Given the description of an element on the screen output the (x, y) to click on. 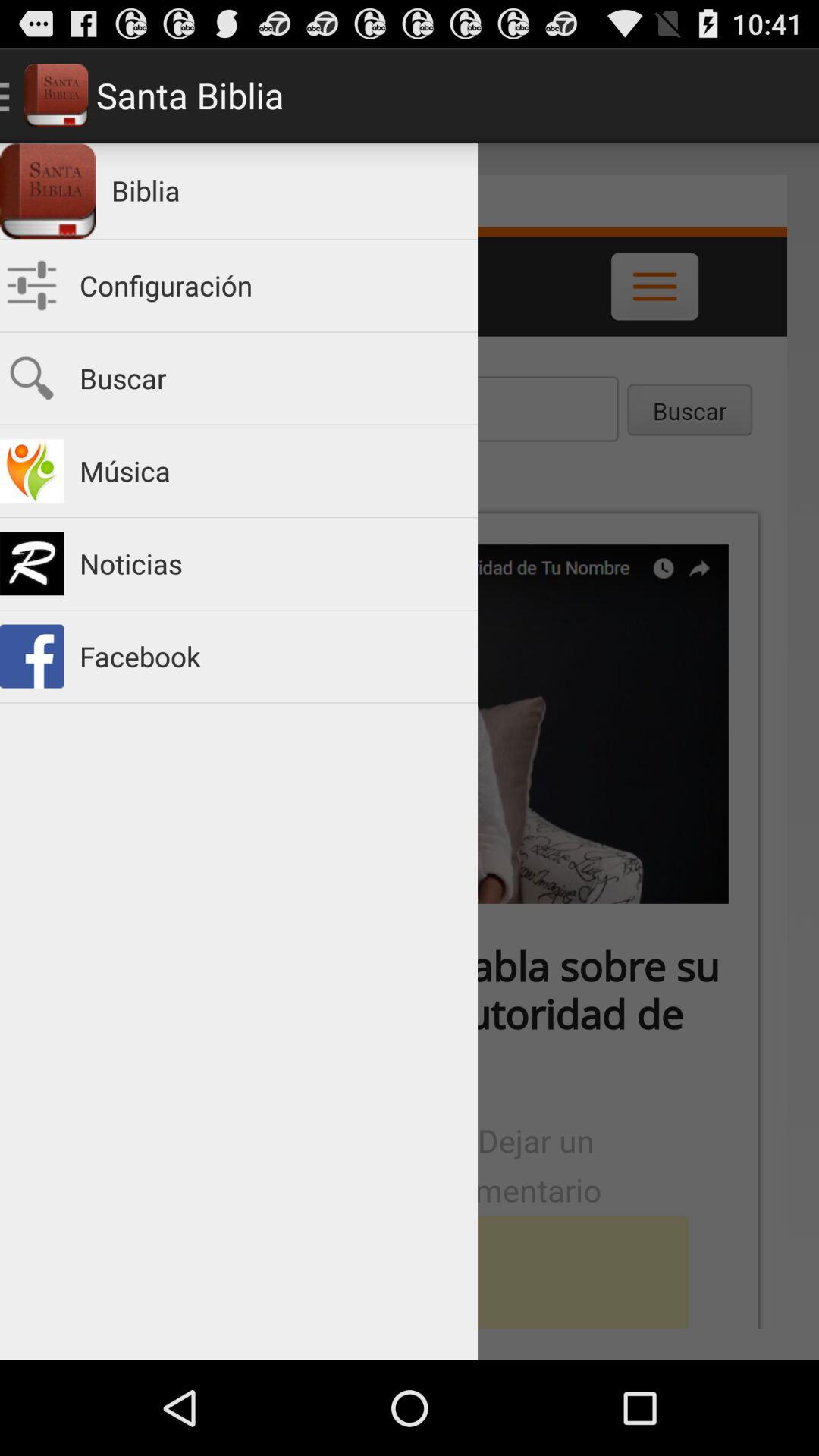
flip until noticias (270, 563)
